Given the description of an element on the screen output the (x, y) to click on. 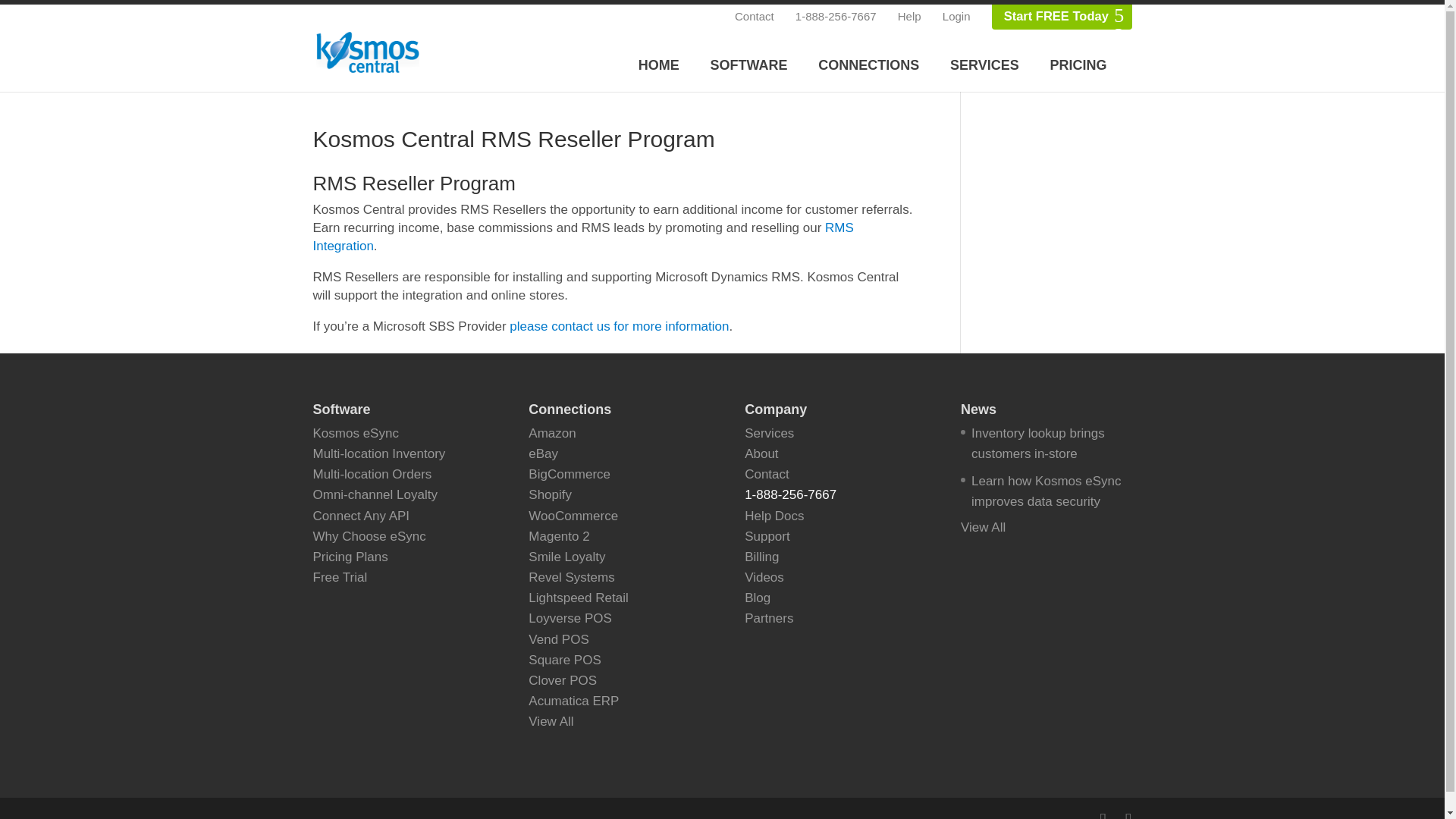
PRICING (1077, 64)
SERVICES (984, 64)
Multi-location Inventory (379, 453)
CONNECTIONS (868, 64)
Help (909, 16)
Multi-location Orders (371, 473)
SOFTWARE (748, 64)
HOME (658, 64)
1-888-256-7667 (835, 16)
Contact (754, 16)
Start FREE Today (1056, 16)
Login (956, 16)
RMS Integration (583, 236)
please contact us for more information (619, 326)
Kosmos eSync (355, 432)
